Given the description of an element on the screen output the (x, y) to click on. 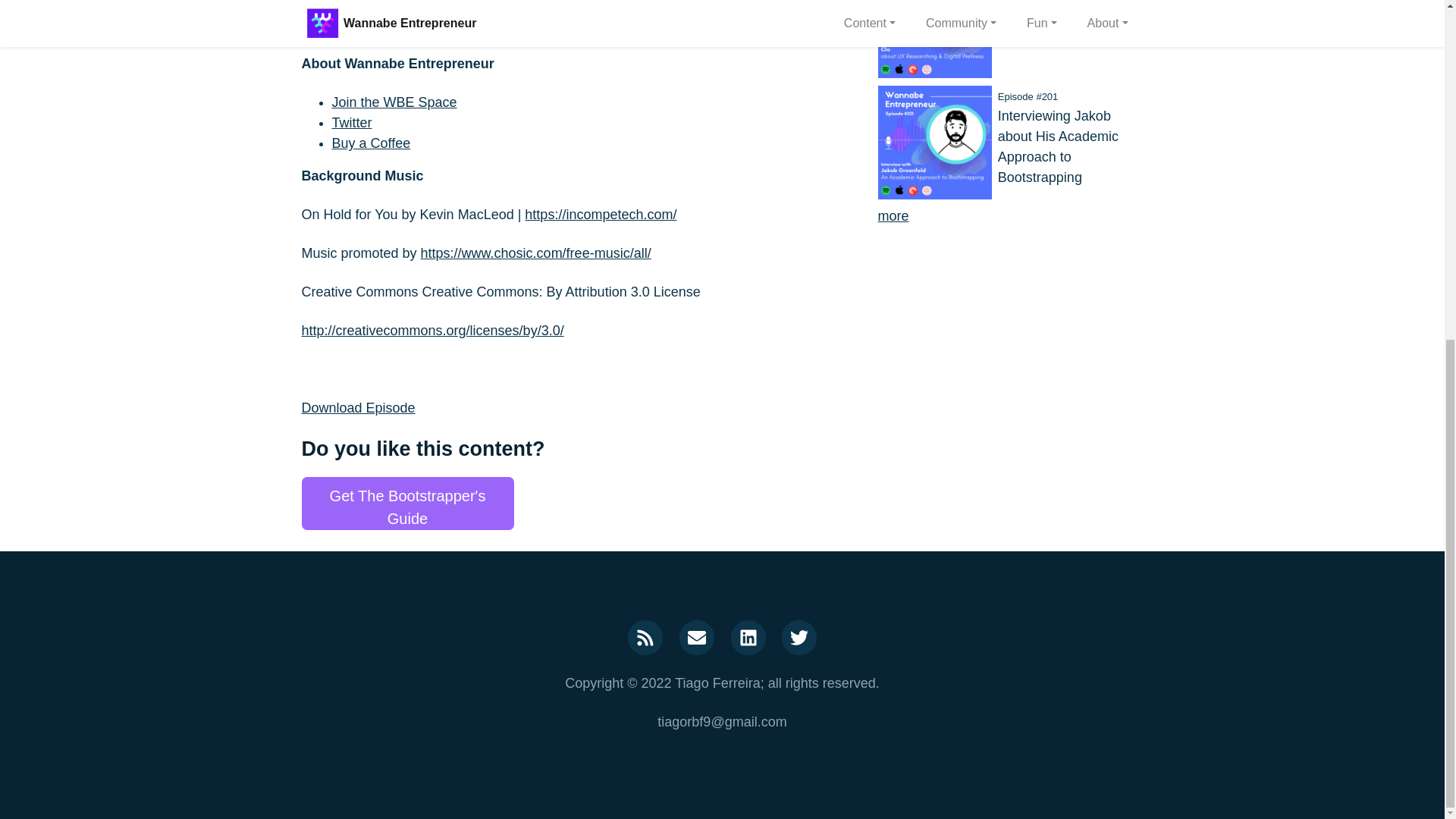
Get The Bootstrapper's Guide (407, 502)
Conversational Design Job Board (433, 10)
Download Episode (357, 407)
Buy a Coffee (370, 142)
Twitter (351, 122)
Join the WBE Space (394, 102)
